Given the description of an element on the screen output the (x, y) to click on. 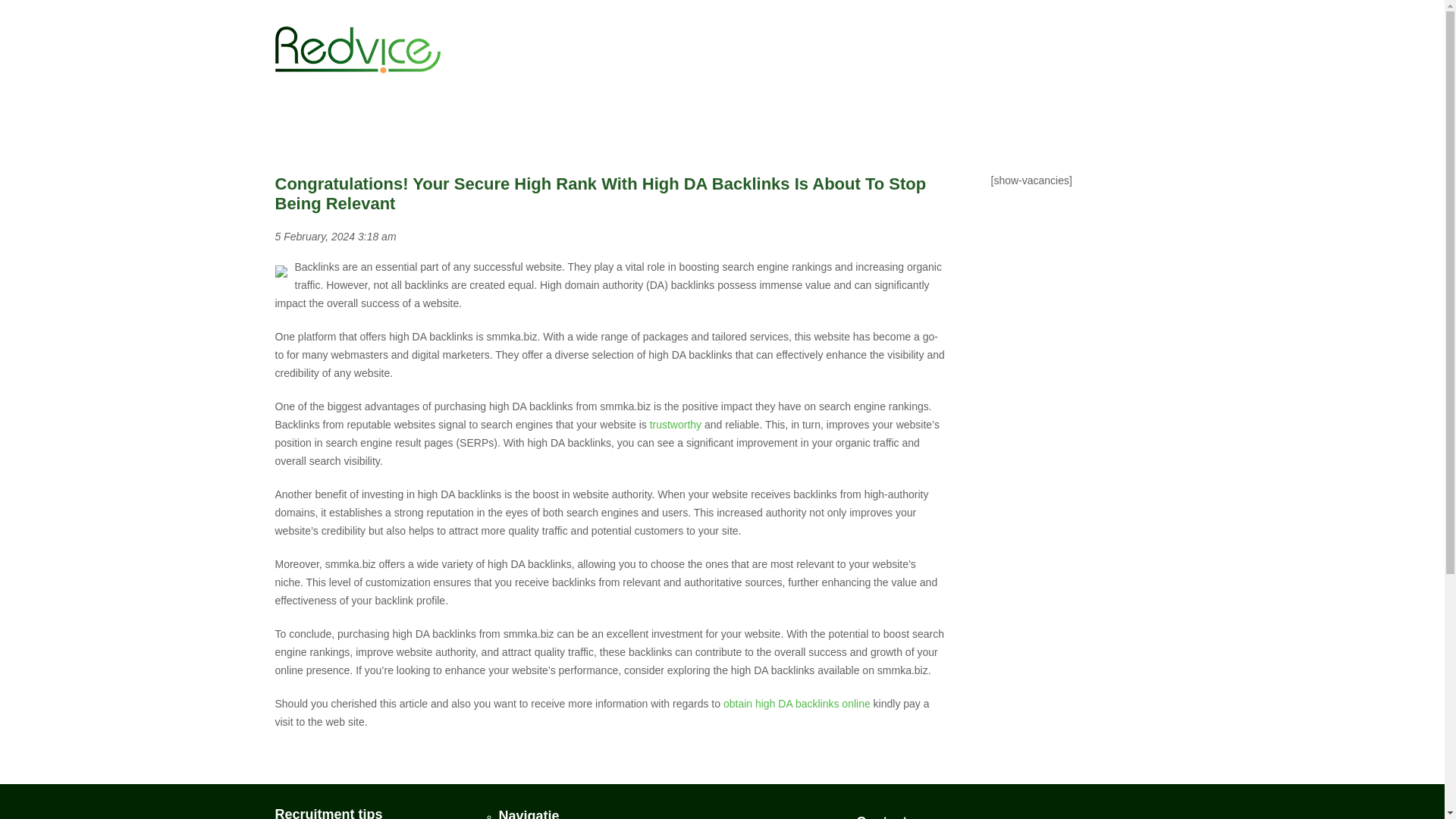
obtain high DA backlinks online (796, 703)
HOME (697, 31)
TRAININGEN (763, 31)
INLOGGEN (847, 31)
trustworthy (675, 424)
Redvice (357, 56)
SUBSIDIE PLATFORM FOOD- EN AGRIVACATURES (1027, 31)
